Given the description of an element on the screen output the (x, y) to click on. 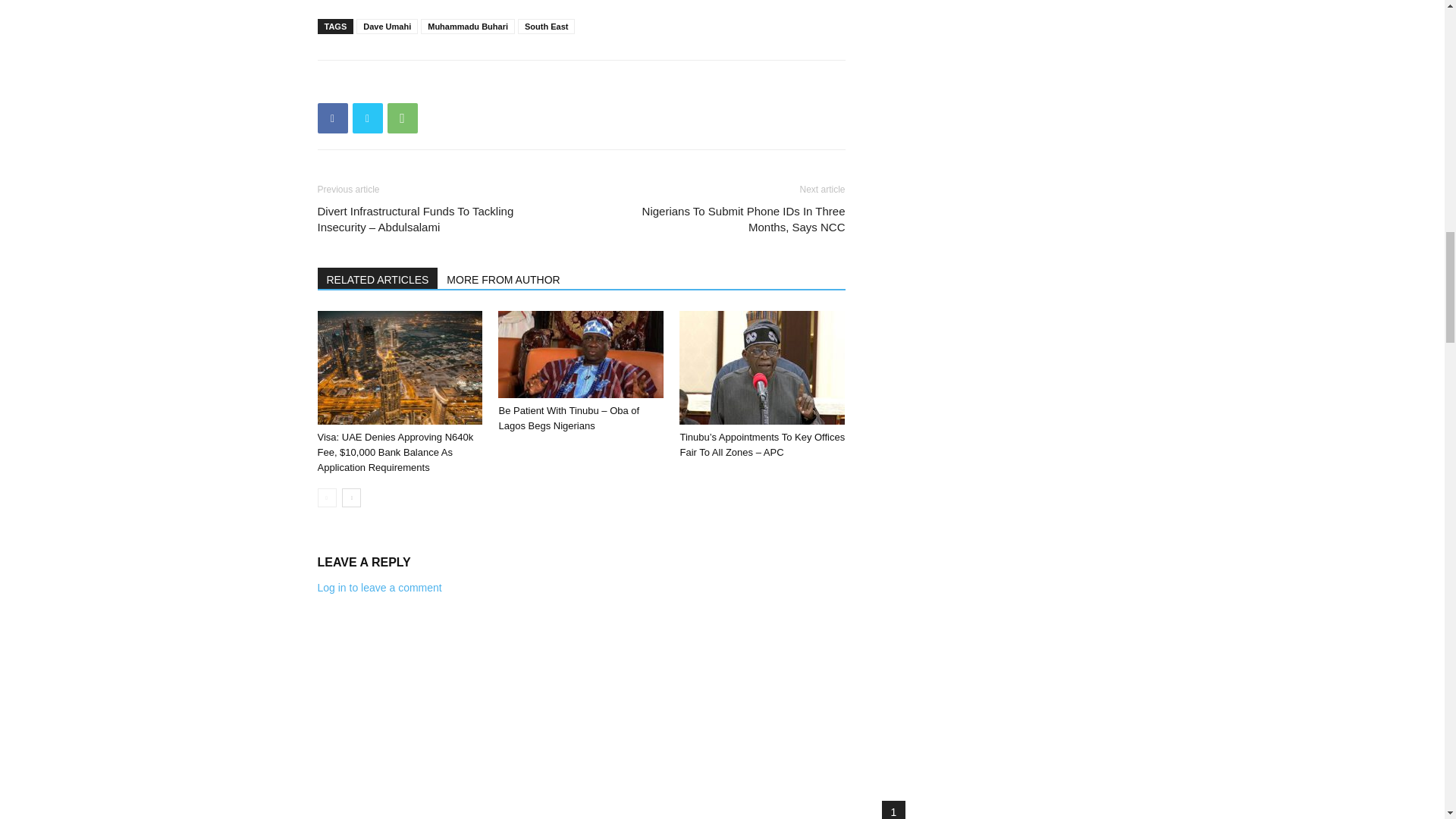
bottomFacebookLike (430, 84)
